Given the description of an element on the screen output the (x, y) to click on. 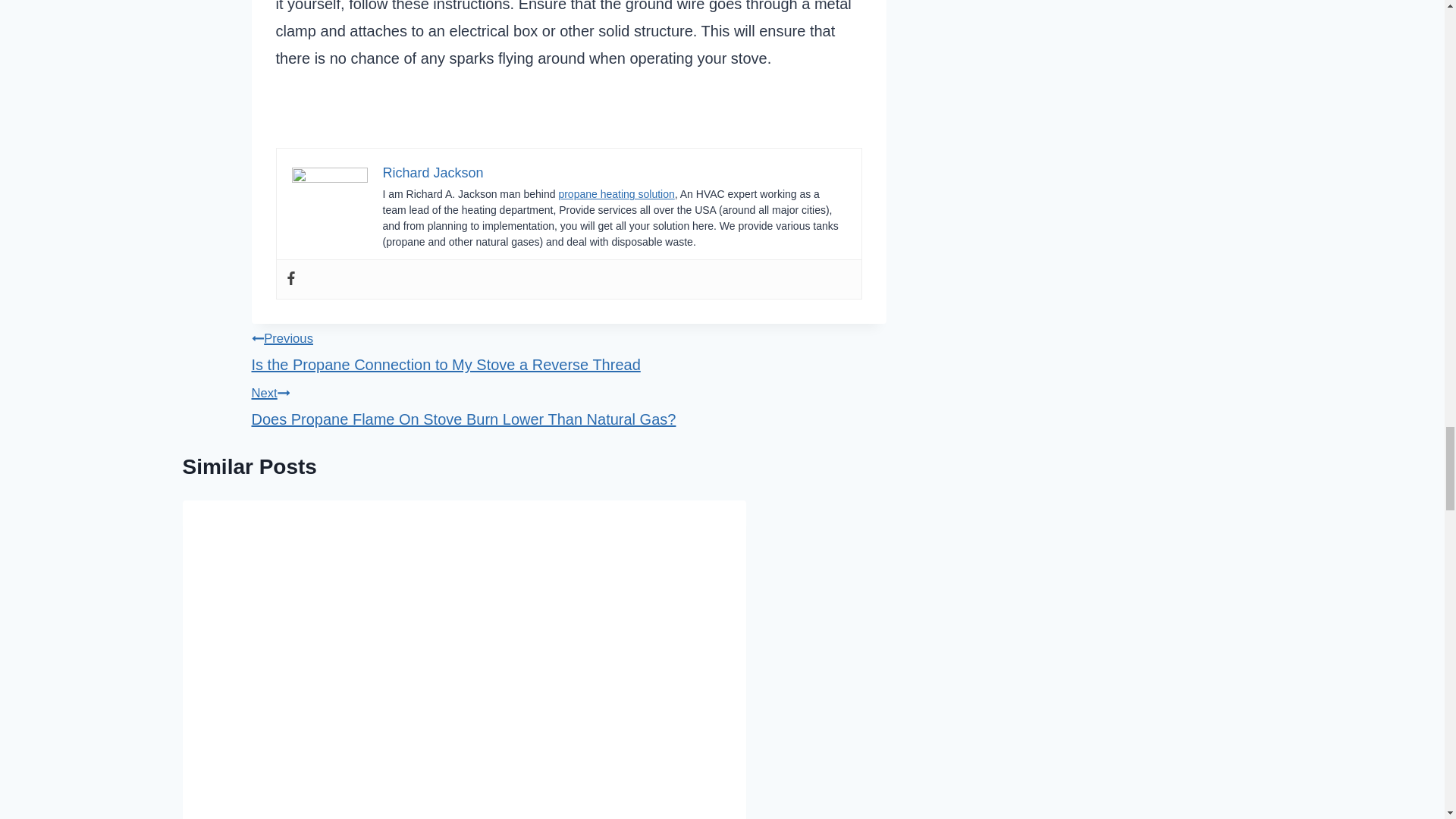
Richard Jackson (432, 172)
propane heating solution (615, 193)
Facebook (290, 279)
